Given the description of an element on the screen output the (x, y) to click on. 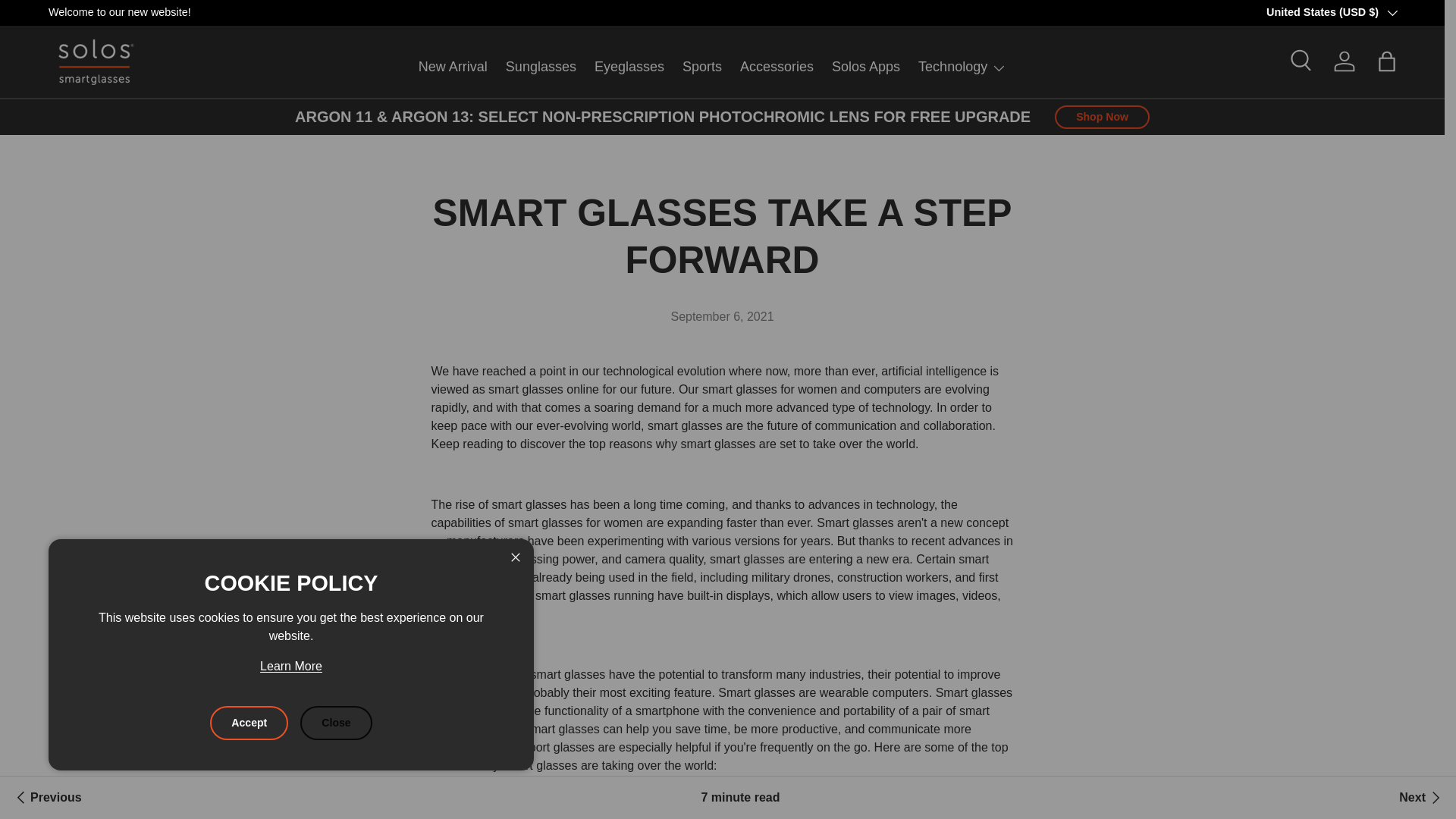
Skip to content (69, 21)
Next (1421, 797)
Sports (702, 67)
Accessories (776, 67)
Learn more (1396, 11)
Solos Apps (865, 67)
Sunglasses (540, 67)
Log in (1344, 61)
Technology (962, 67)
Bag (1386, 61)
Search (1302, 61)
This is What AI Coach from Airgo App Can Do (1421, 797)
Shop Now (1102, 116)
New Arrival (453, 67)
Start your Fitness Journey with Smart Glasses (46, 797)
